Given the description of an element on the screen output the (x, y) to click on. 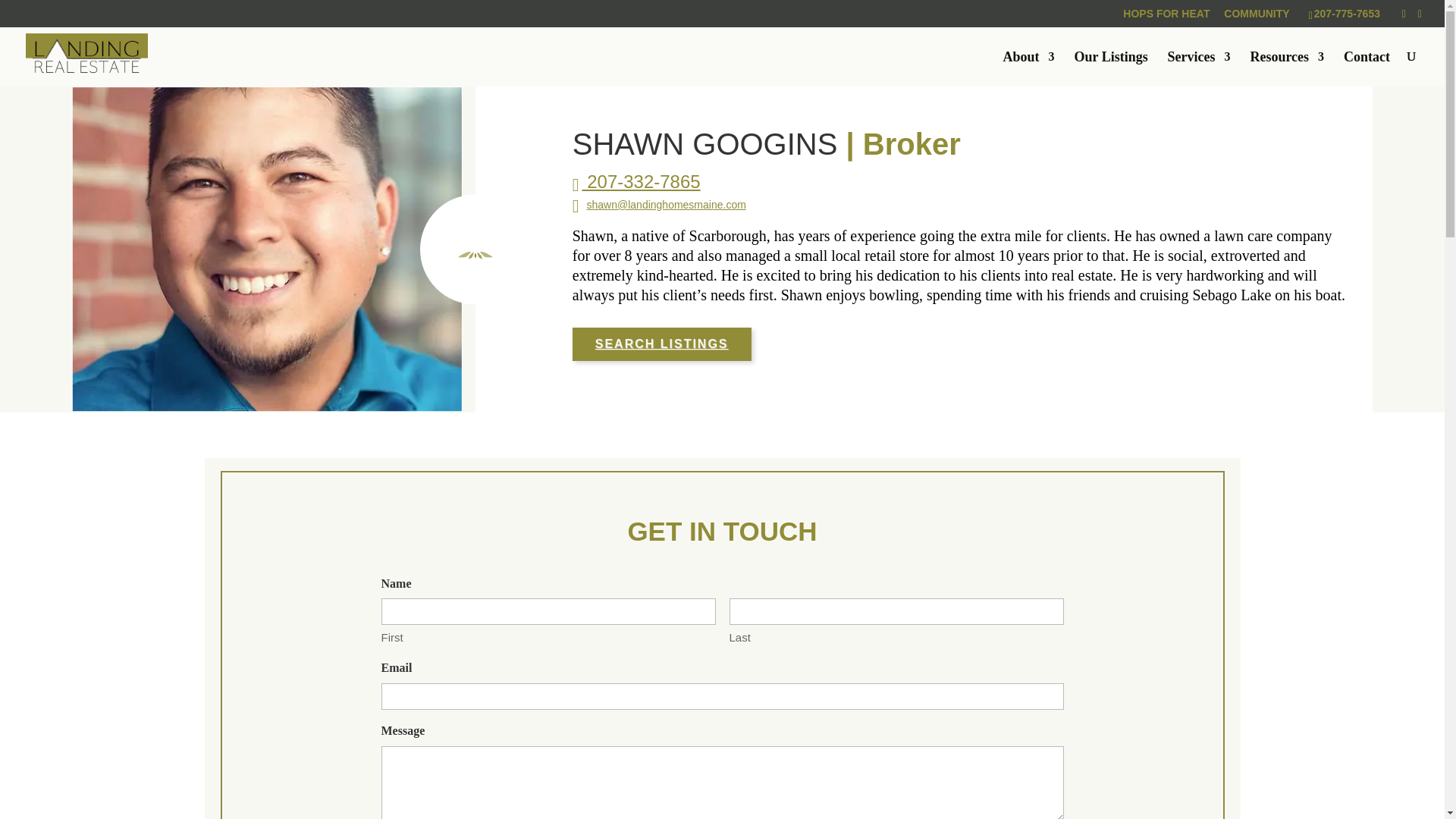
Our Listings (1110, 67)
Contact (1366, 67)
COMMUNITY (1256, 16)
HOPS FOR HEAT (1165, 16)
About (1028, 67)
207-775-7653 (1347, 13)
Services (1198, 67)
Resources (1286, 67)
